Given the description of an element on the screen output the (x, y) to click on. 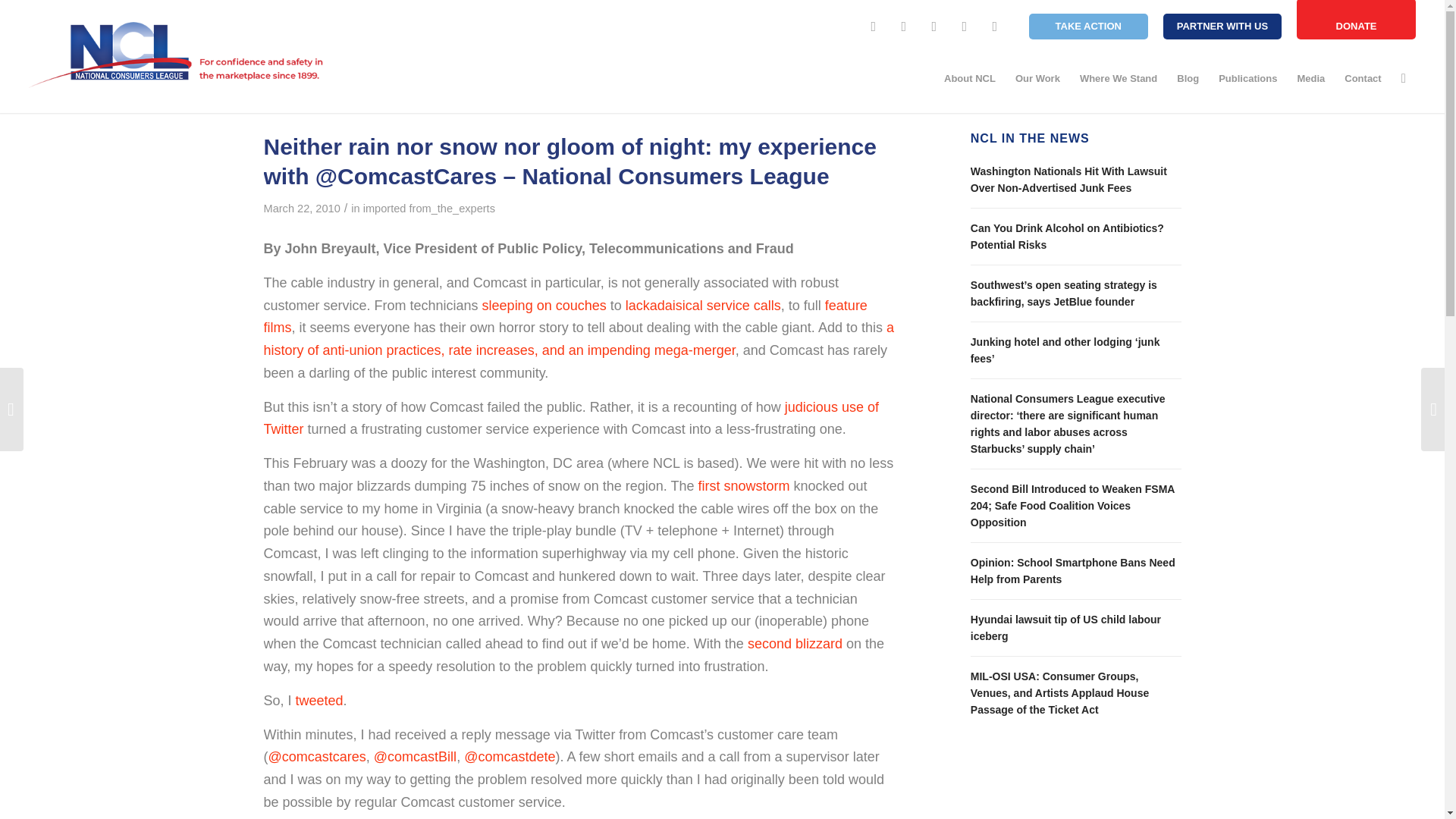
PARTNER WITH US (1222, 26)
LinkedIn (995, 26)
Where We Stand (1118, 79)
Facebook (873, 26)
NCL-logo (176, 54)
Publications (1247, 79)
DONATE (1356, 19)
Instagram (933, 26)
Our Work (1038, 79)
Twitter (903, 26)
About NCL (970, 79)
TAKE ACTION (1088, 26)
Youtube (964, 26)
